Given the description of an element on the screen output the (x, y) to click on. 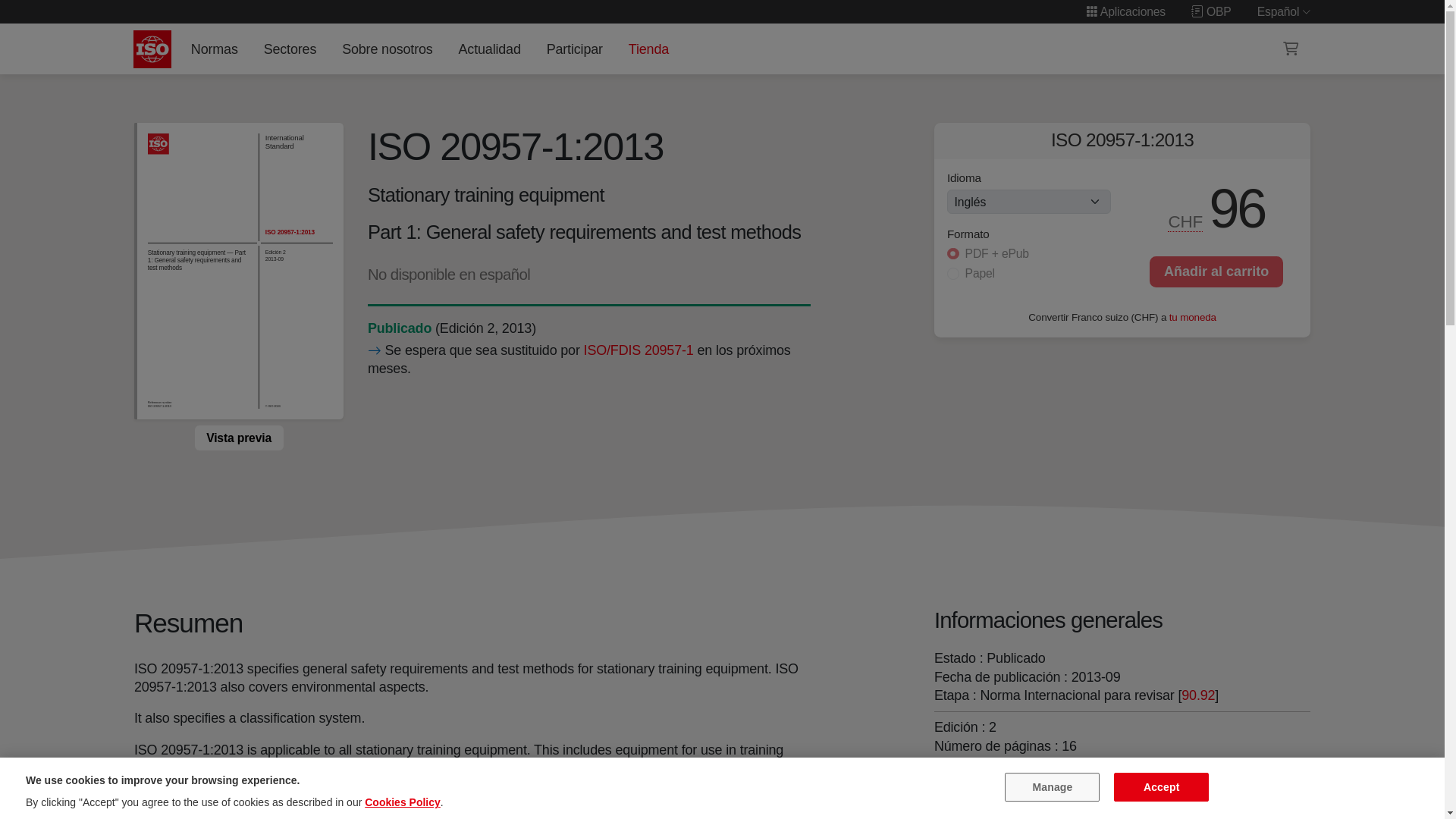
Portal de aplicaciones de ISO (1126, 11)
Sectores (290, 48)
Francos suizos (1186, 221)
97.220.30 (997, 795)
Ciclo de vida (398, 328)
Sobre nosotros (387, 48)
 Aplicaciones (1126, 11)
Tienda (648, 48)
Publicado (398, 328)
tu moneda (1192, 316)
Carro de la compra (1290, 49)
Actualidad (489, 48)
Indoor sports equipment (997, 795)
